Given the description of an element on the screen output the (x, y) to click on. 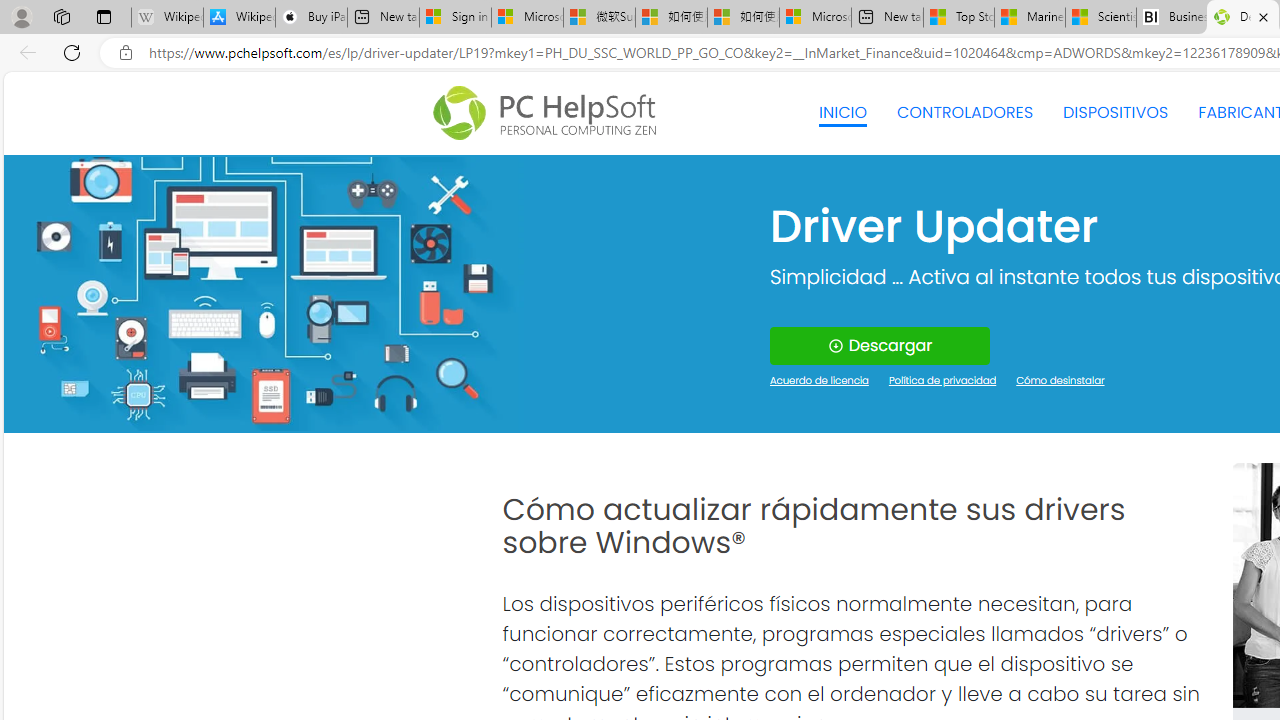
Acuerdo de licencia (819, 381)
INICIO (842, 112)
DISPOSITIVOS (1115, 112)
Generic (263, 293)
Download Icon (834, 345)
Logo Personal Computing (550, 113)
Buy iPad - Apple (311, 17)
CONTROLADORES (965, 112)
